Given the description of an element on the screen output the (x, y) to click on. 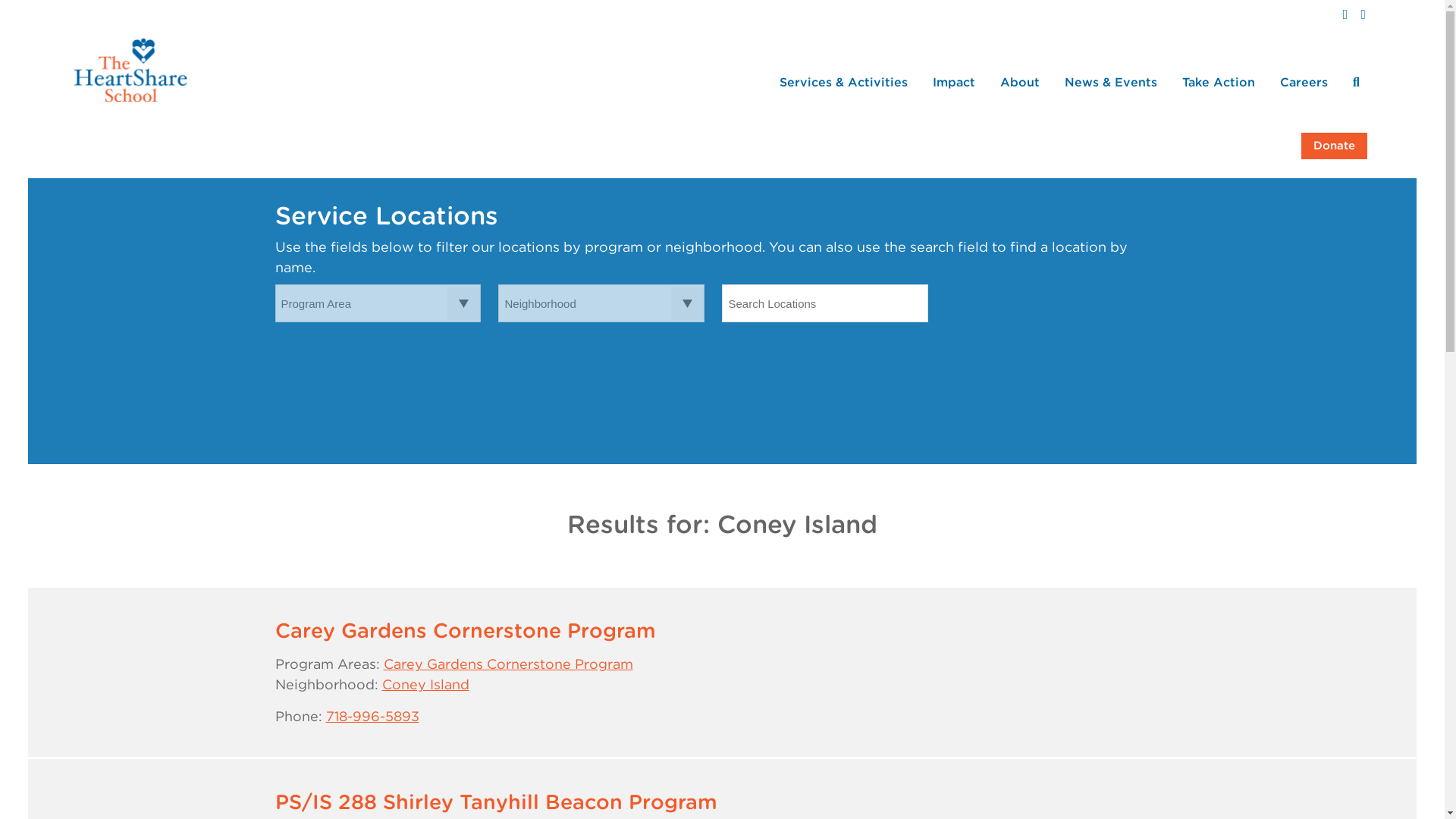
About (1019, 82)
Take Action (1218, 82)
Call this service location (372, 715)
Impact (954, 82)
Search Locations (824, 303)
